Given the description of an element on the screen output the (x, y) to click on. 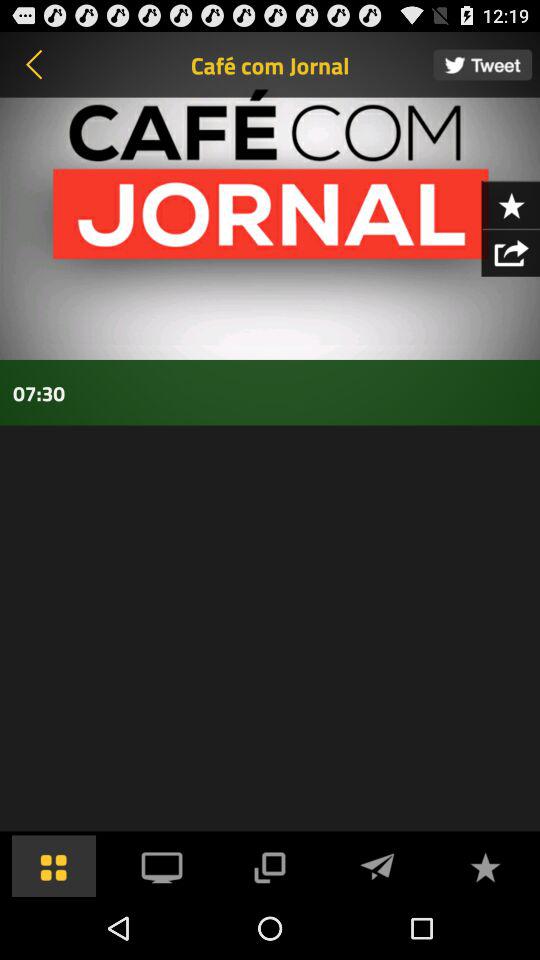
desayuno con noticias (482, 64)
